Given the description of an element on the screen output the (x, y) to click on. 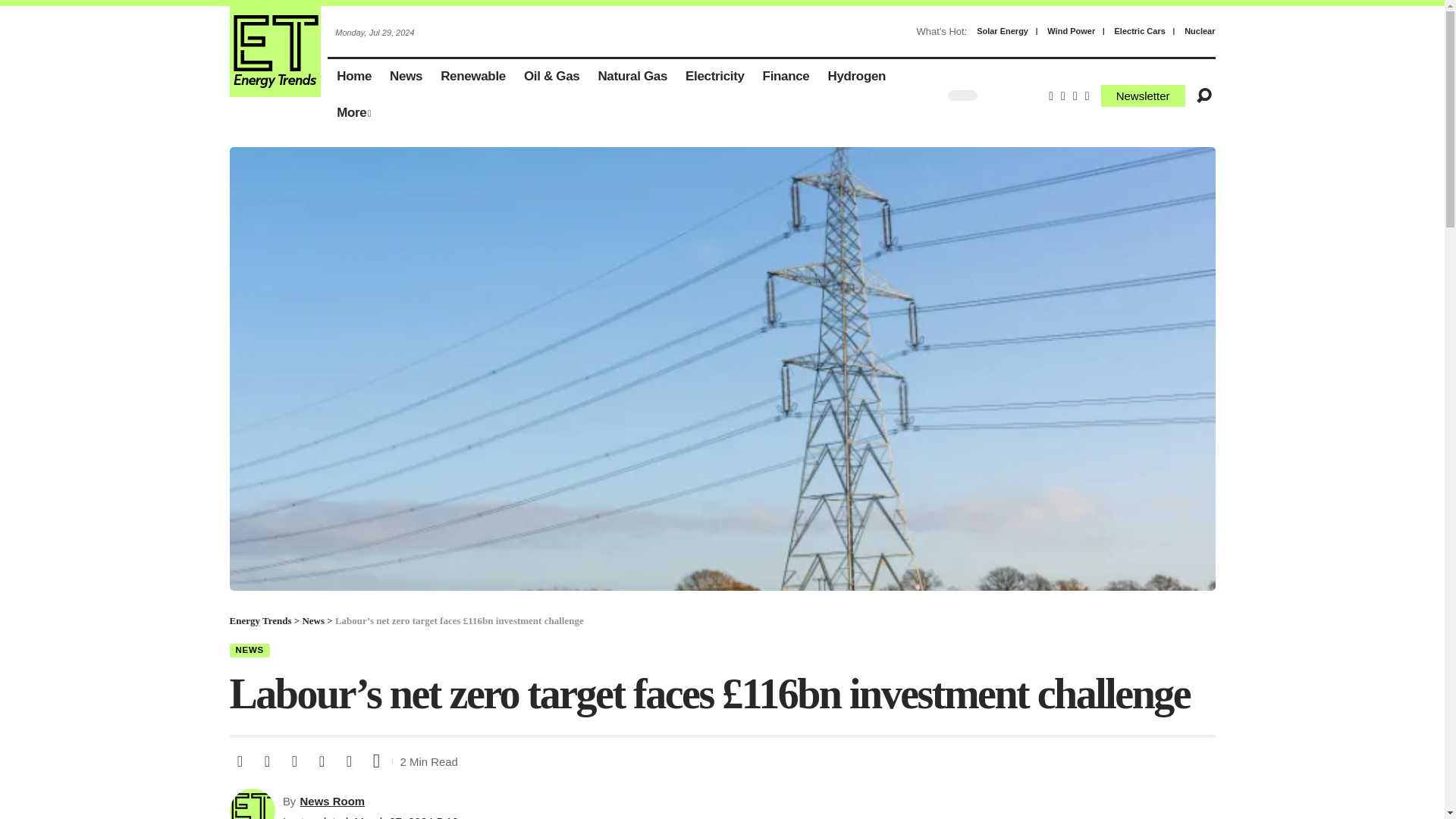
Solar Energy (1001, 31)
Home (353, 76)
Nuclear (1199, 31)
More (353, 113)
Finance (786, 76)
Natural Gas (632, 76)
News (405, 76)
Wind Power (1070, 31)
Electricity (1066, 31)
Newsletter (715, 76)
Go to the News Category archives. (1142, 96)
Hydrogen (312, 620)
Electric Cars (856, 76)
Go to Energy Trends. (1140, 31)
